Given the description of an element on the screen output the (x, y) to click on. 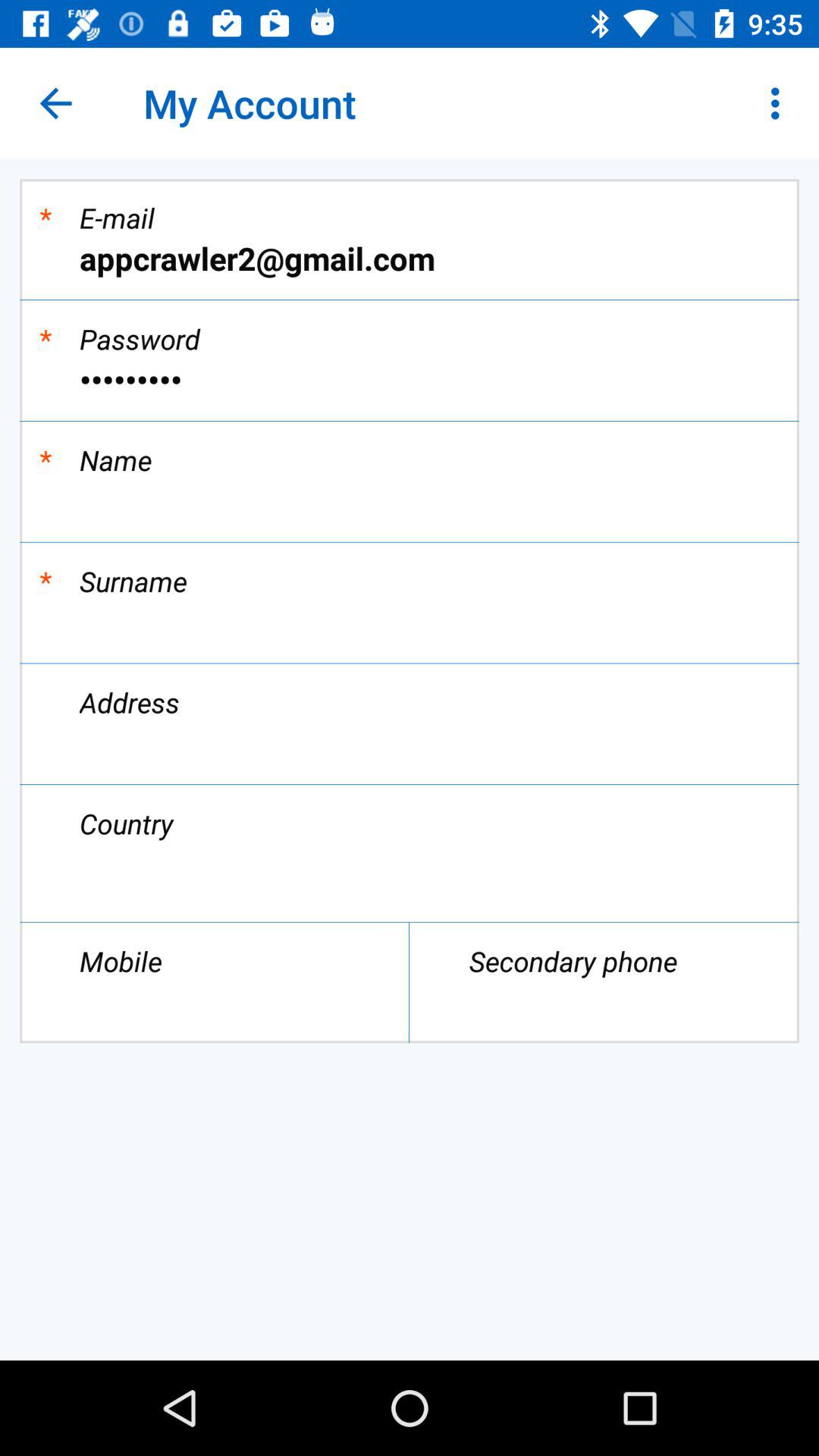
choose the app next to the my account app (55, 103)
